Given the description of an element on the screen output the (x, y) to click on. 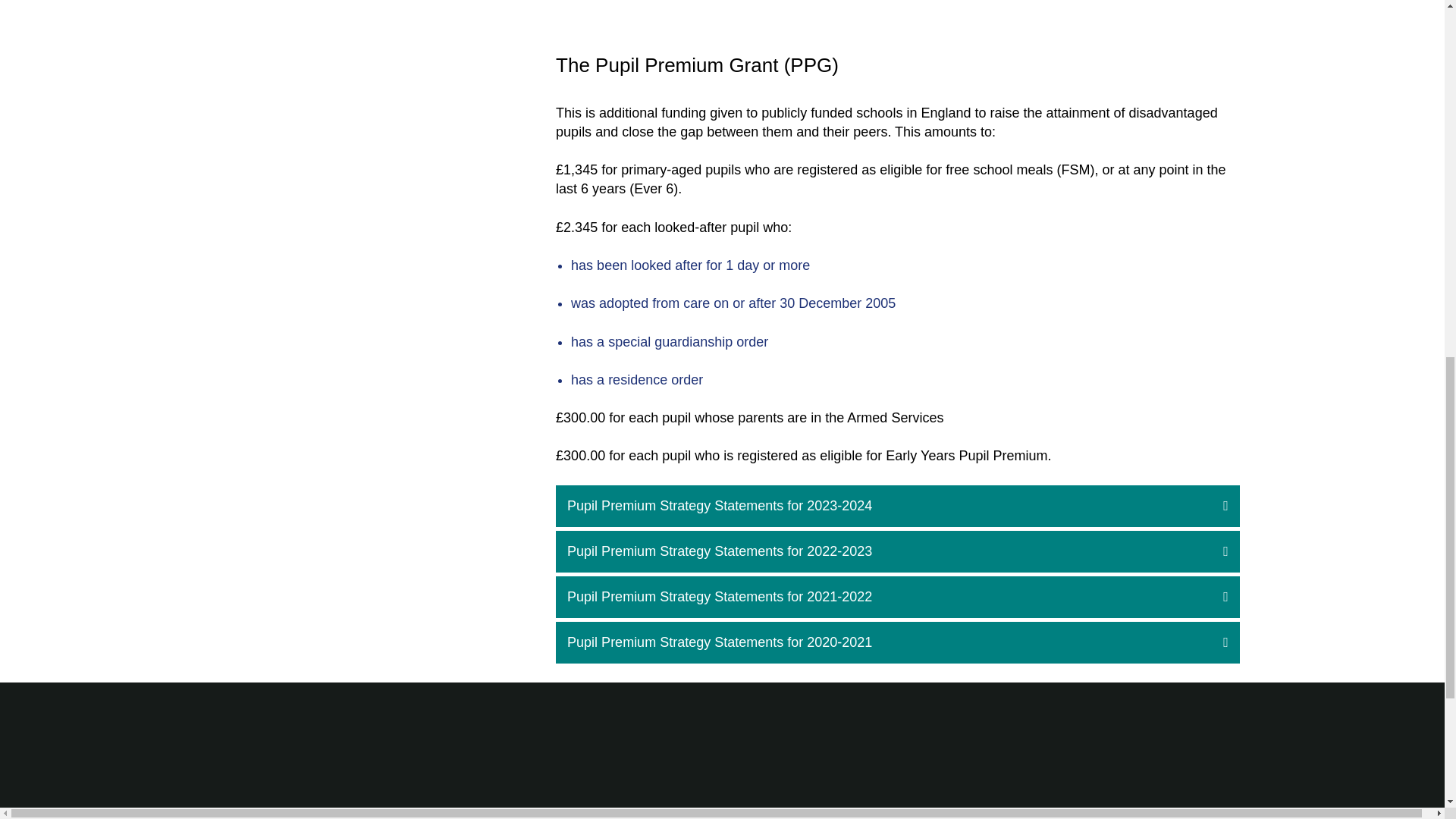
Pupil Premium Strategy Statements for 2020-2021 (898, 642)
Pupil Premium Strategy Statements for 2021-2022 (898, 597)
Pupil Premium Strategy Statements for 2023-2024 (898, 506)
Pupil Premium Strategy Statements for 2022-2023 (898, 551)
